Given the description of an element on the screen output the (x, y) to click on. 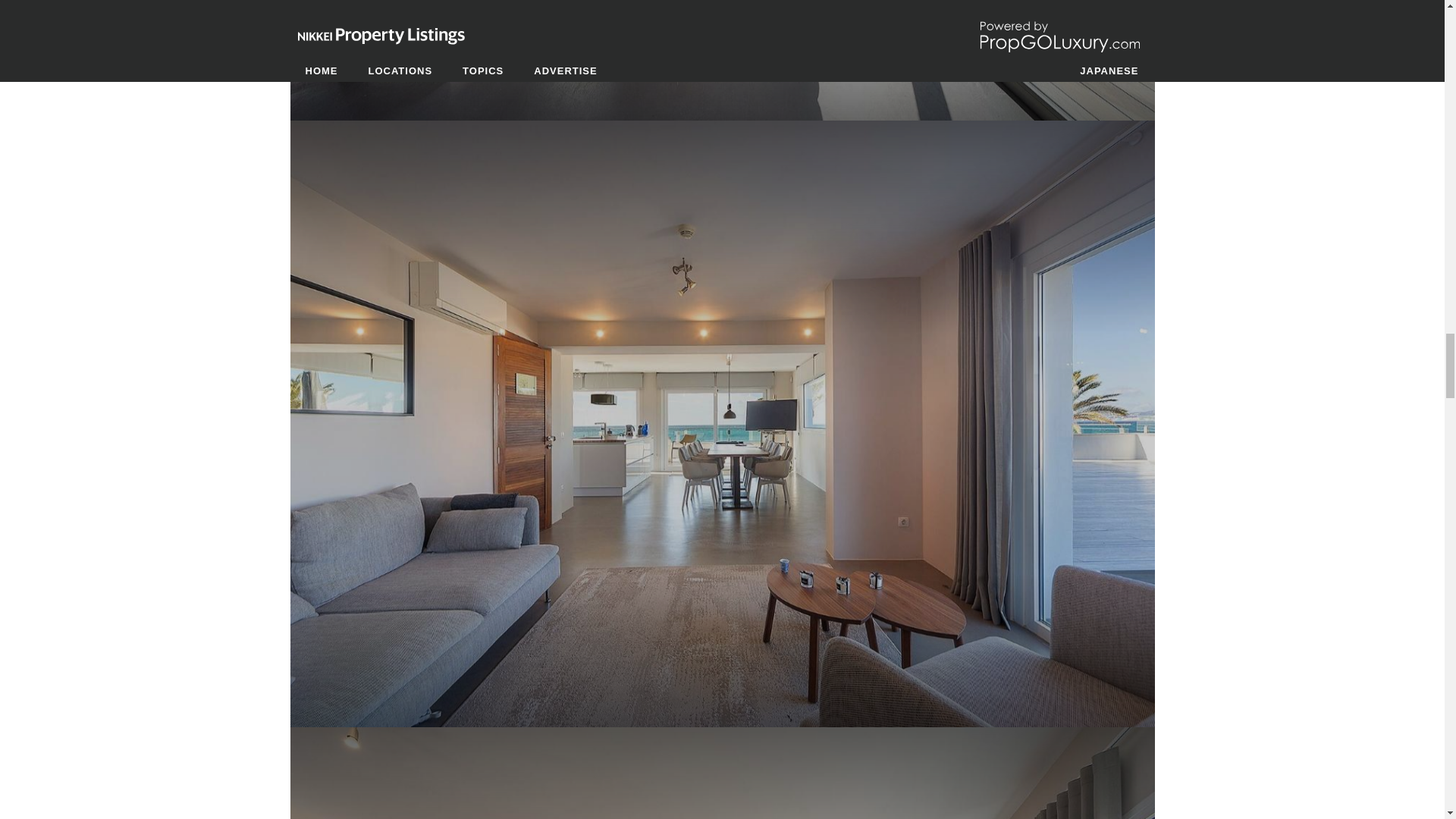
9 (721, 57)
